Given the description of an element on the screen output the (x, y) to click on. 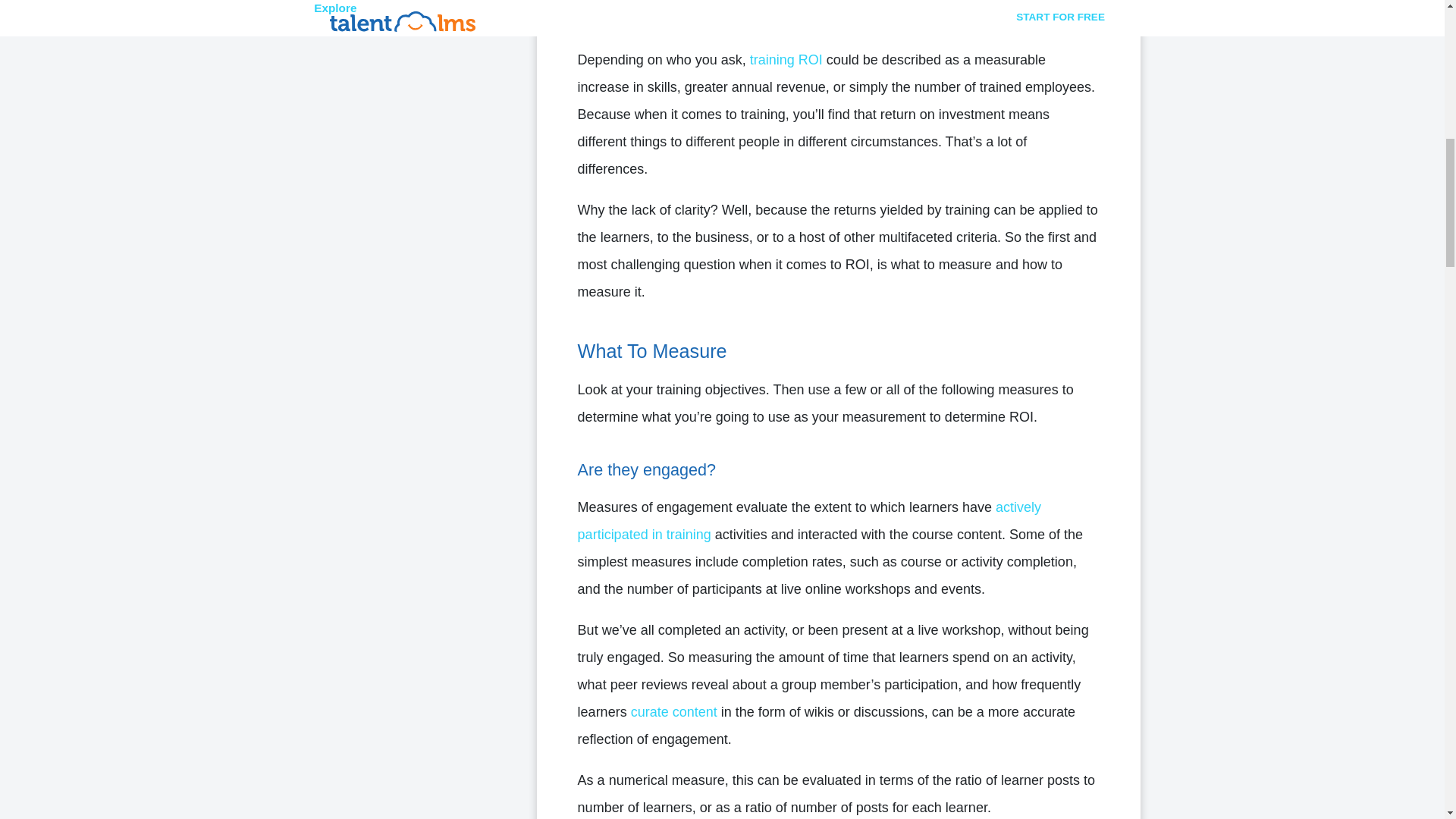
actively participated in training (809, 520)
training ROI (785, 59)
curate content (673, 711)
